Given the description of an element on the screen output the (x, y) to click on. 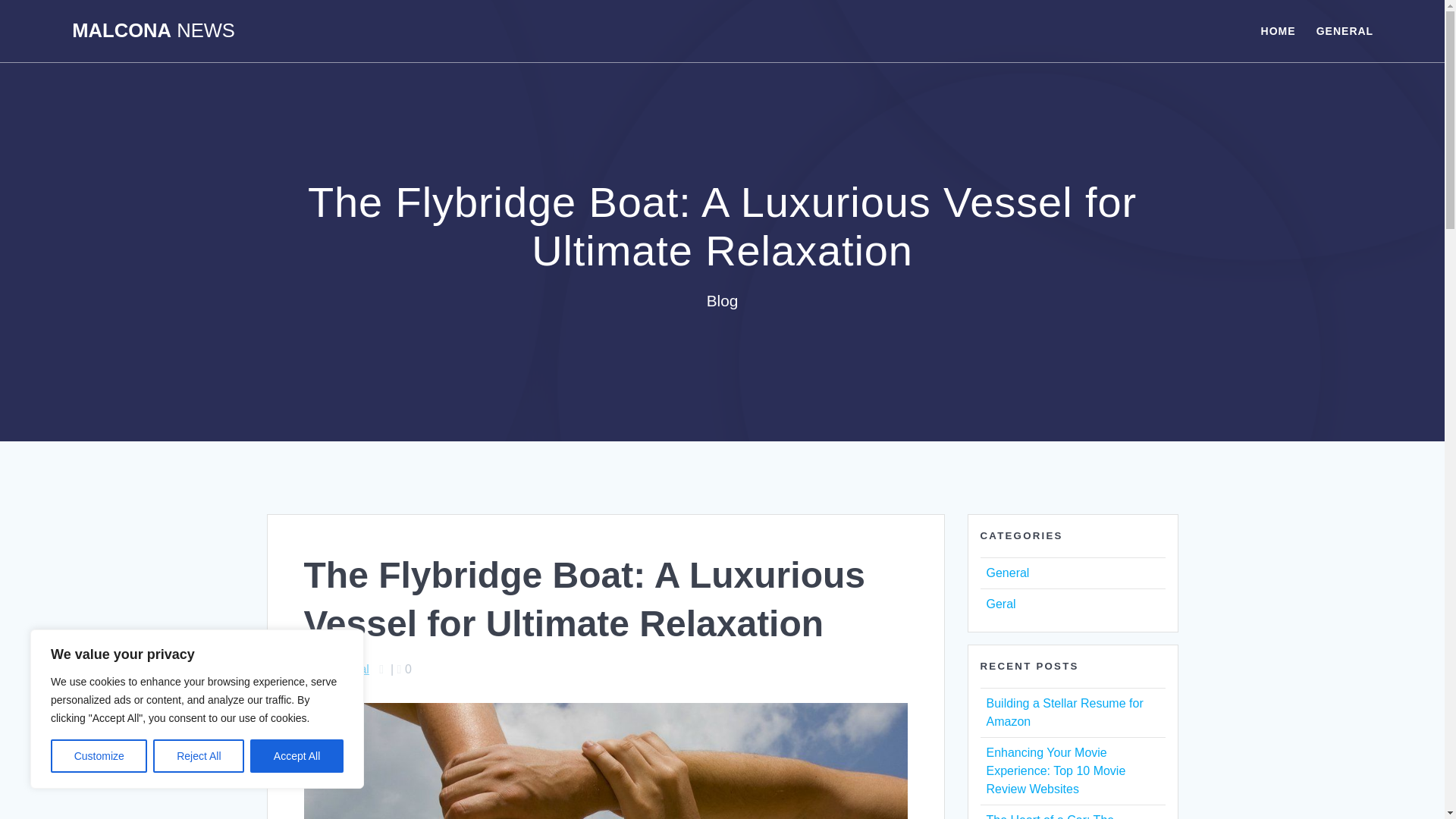
GENERAL (1344, 30)
Building a Stellar Resume for Amazon (1063, 712)
HOME (1277, 30)
MALCONA NEWS (152, 30)
Accept All (296, 756)
Geral (999, 603)
General (1007, 572)
Customize (98, 756)
